Given the description of an element on the screen output the (x, y) to click on. 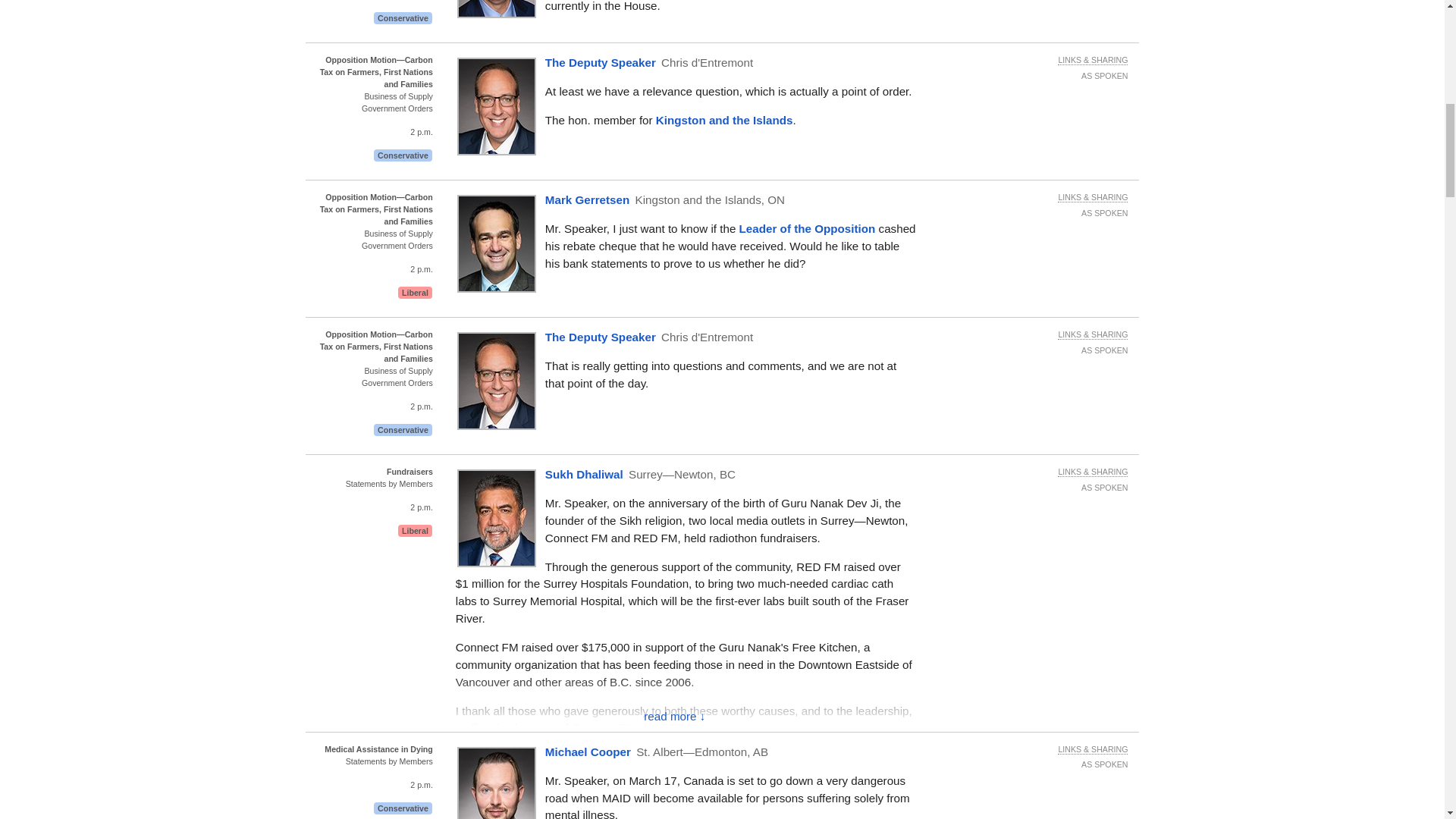
Pierre Poilievre (807, 228)
Mark Gerretsen (724, 119)
